Given the description of an element on the screen output the (x, y) to click on. 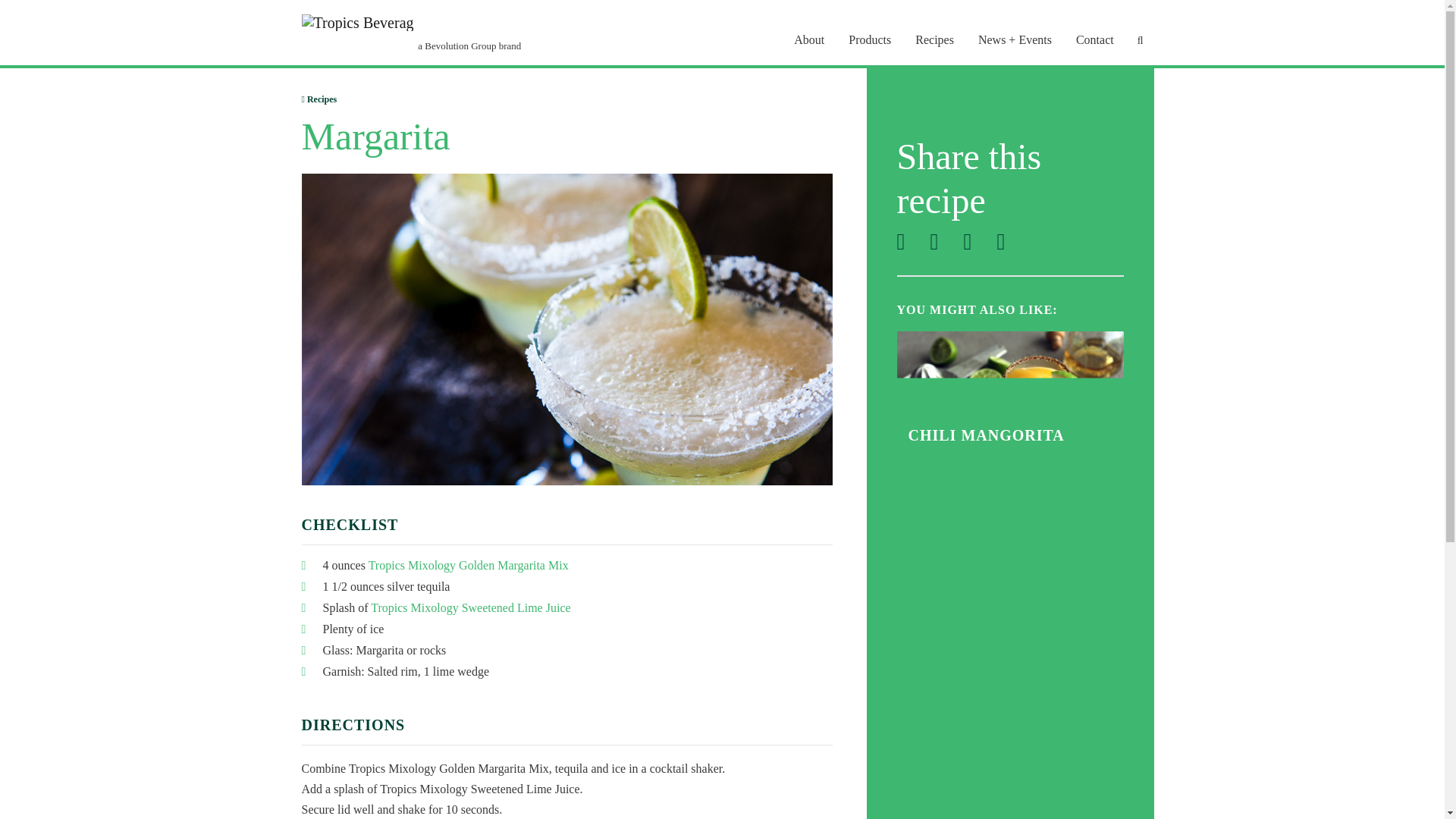
Contact (1094, 39)
About (808, 39)
Tropics Mixology Golden Margarita Mix (468, 564)
Recipes (319, 99)
Contact (1094, 39)
Tropics Mixology Sweetened Lime Juice (470, 607)
Recipes (934, 39)
Products (869, 39)
Products (869, 39)
CHILI MANGORITA (986, 434)
About (808, 39)
Recipes (934, 39)
